Given the description of an element on the screen output the (x, y) to click on. 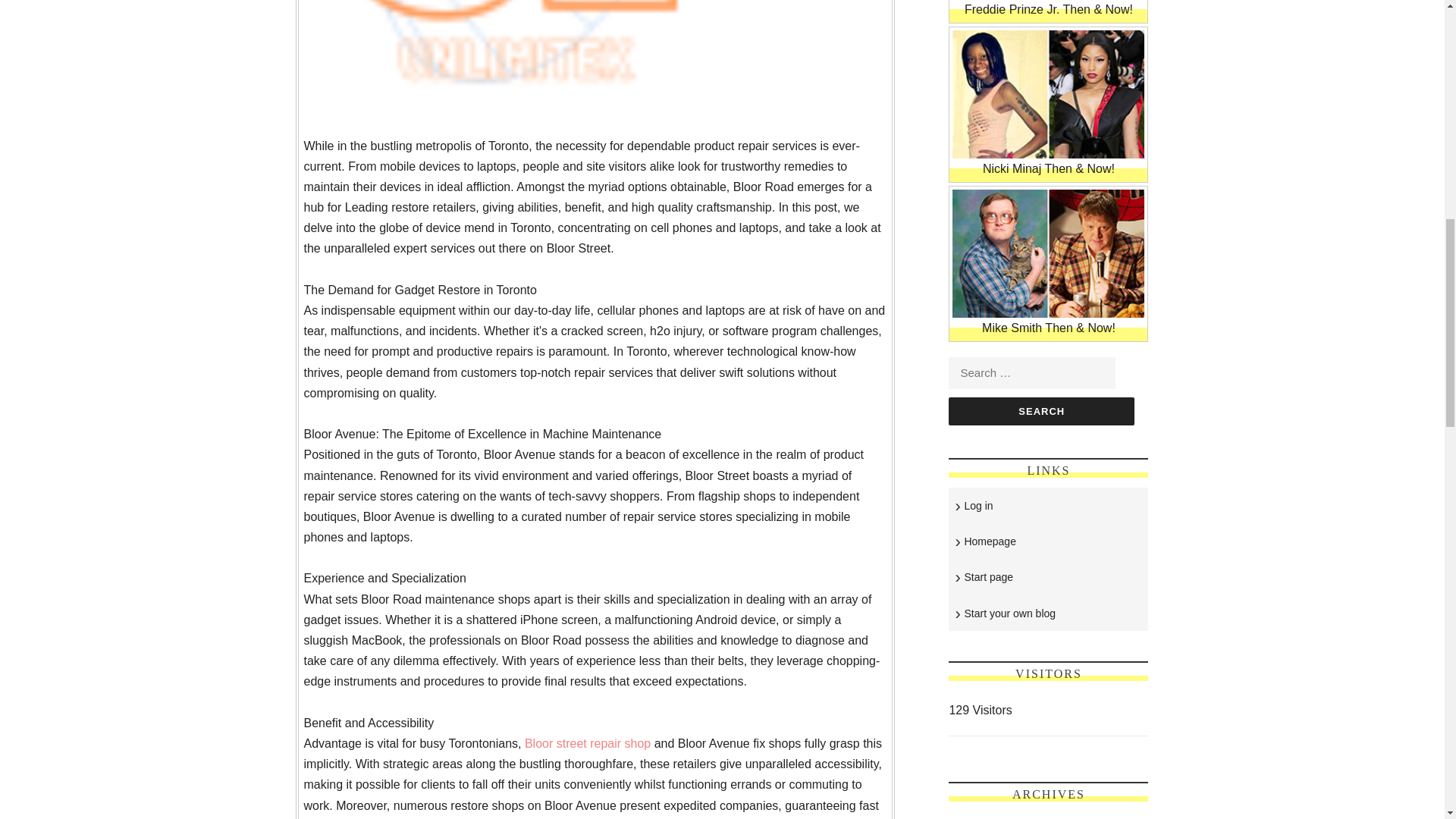
Start your own blog (1009, 612)
Homepage (989, 541)
Search (1041, 411)
Start page (988, 576)
Log in (977, 505)
Search (1041, 411)
Search (1041, 411)
Bloor street repair shop (587, 743)
